Given the description of an element on the screen output the (x, y) to click on. 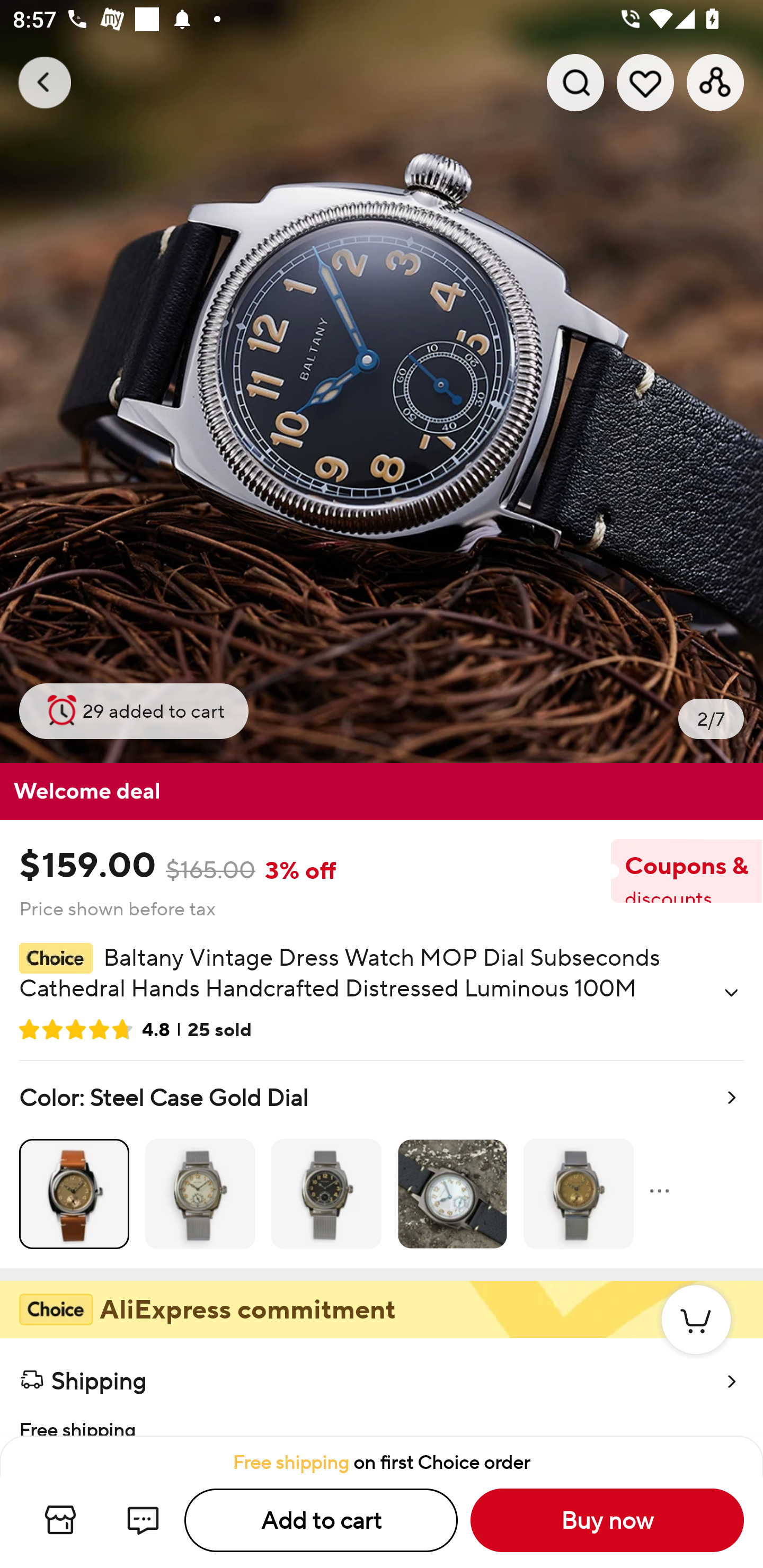
Navigate up (44, 82)
 (730, 992)
Color: Steel Case Gold Dial  (381, 1164)
Shipping  Free shipping  (381, 1386)
Add to cart (320, 1520)
Buy now (606, 1520)
